Given the description of an element on the screen output the (x, y) to click on. 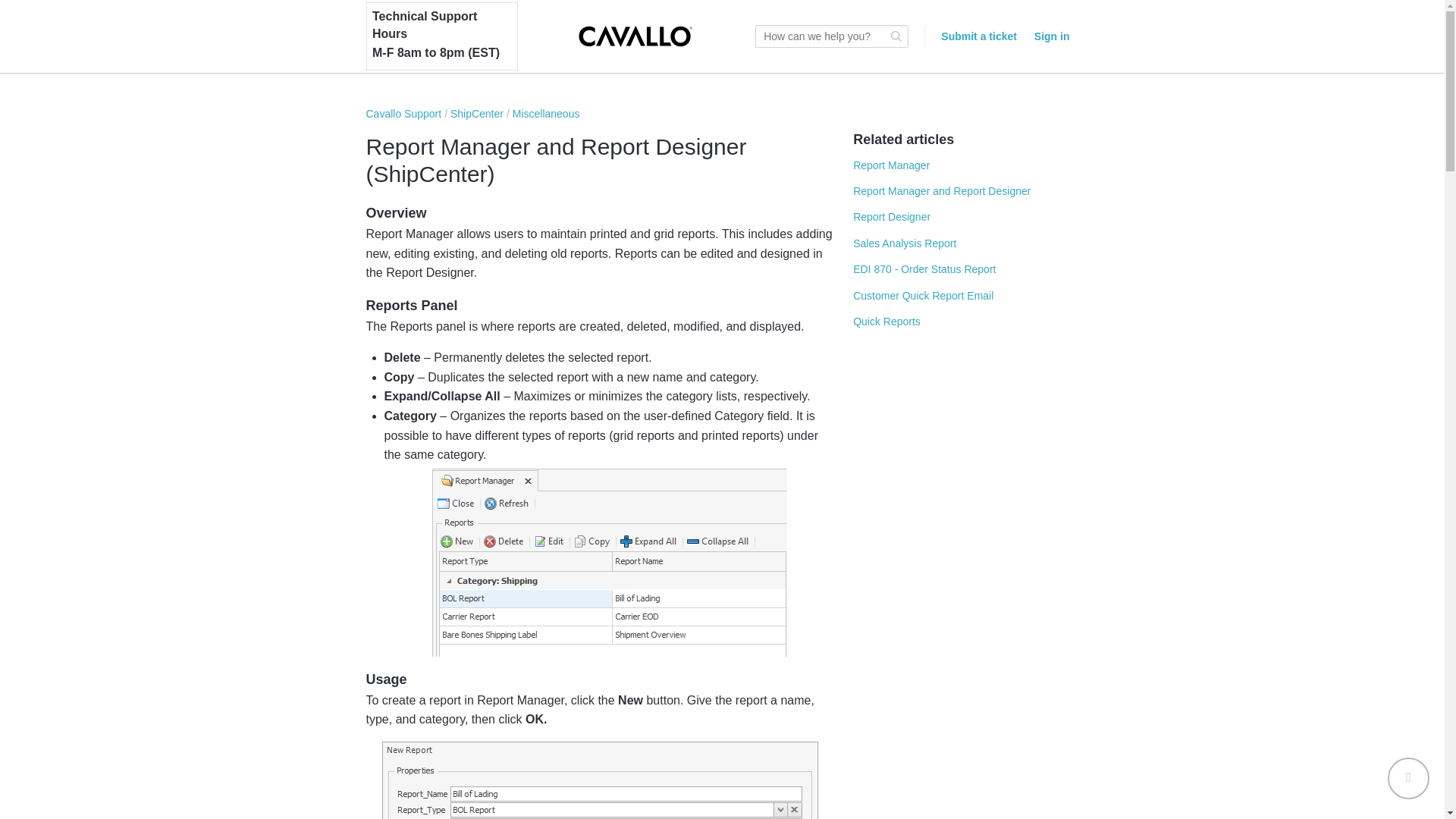
ShipCenter (476, 113)
Go to homepage (635, 36)
Miscellaneous (545, 113)
EDI 870 - Order Status Report (924, 268)
Report Manager and Report Designer (941, 191)
Customer Quick Report Email (922, 295)
Report Designer (891, 216)
Quick Reports (886, 321)
Submit a ticket (978, 36)
Sales Analysis Report (904, 243)
Sign in (1051, 36)
Cavallo Support (403, 113)
Report Manager (891, 164)
